Given the description of an element on the screen output the (x, y) to click on. 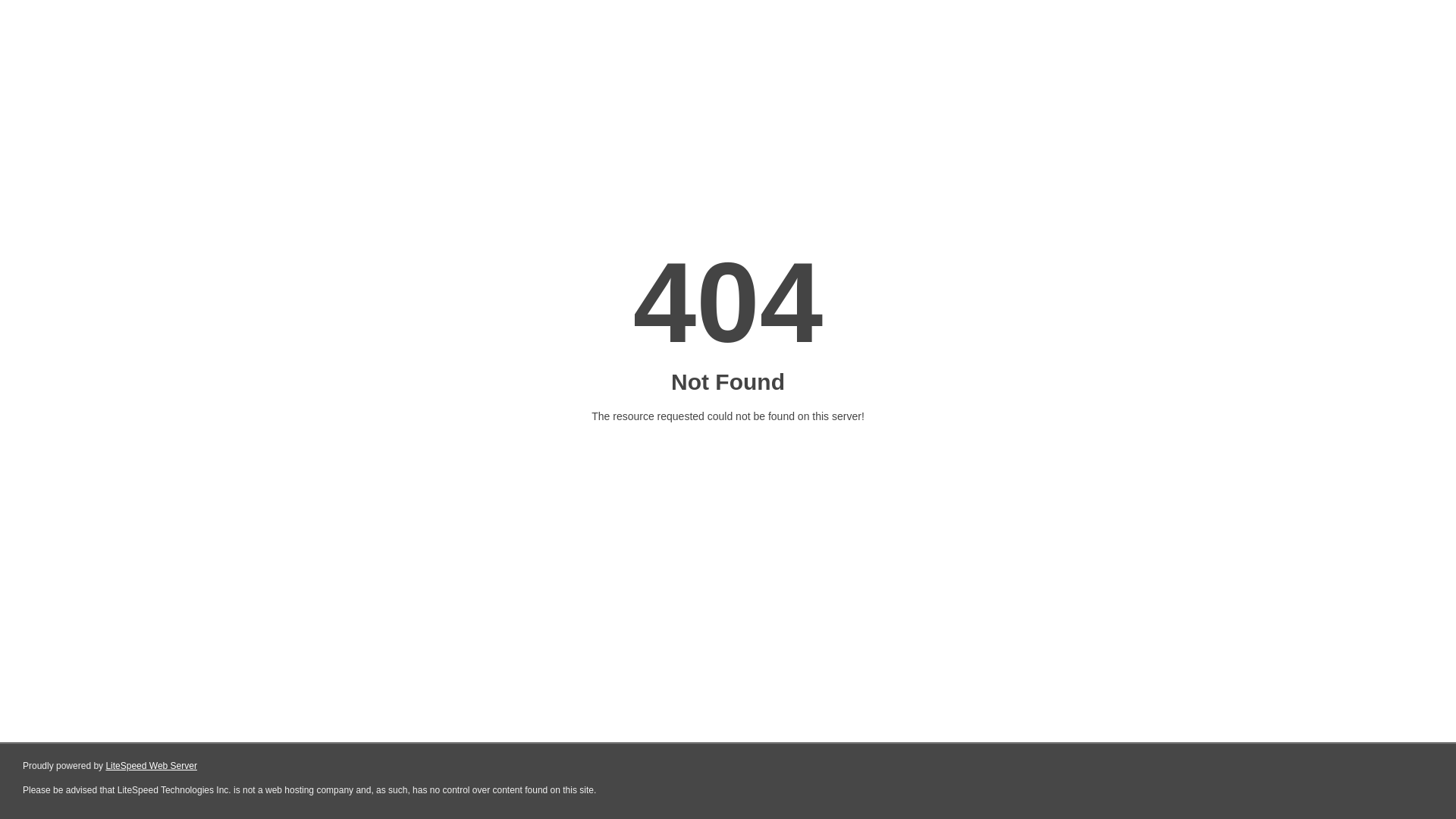
LiteSpeed Web Server Element type: text (151, 765)
